Given the description of an element on the screen output the (x, y) to click on. 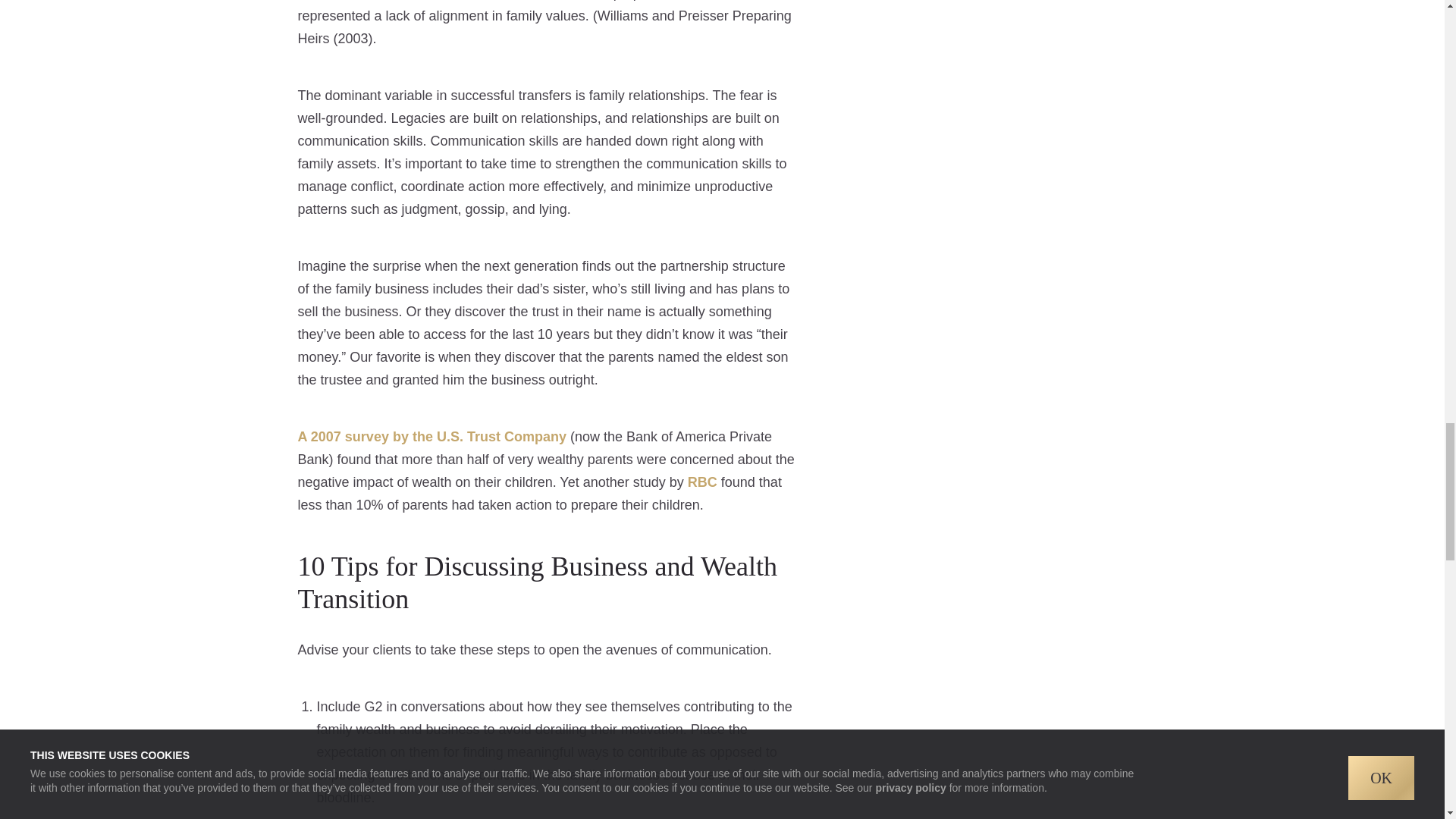
RBC (702, 482)
A 2007 survey by the U.S. Trust Company (431, 436)
